Given the description of an element on the screen output the (x, y) to click on. 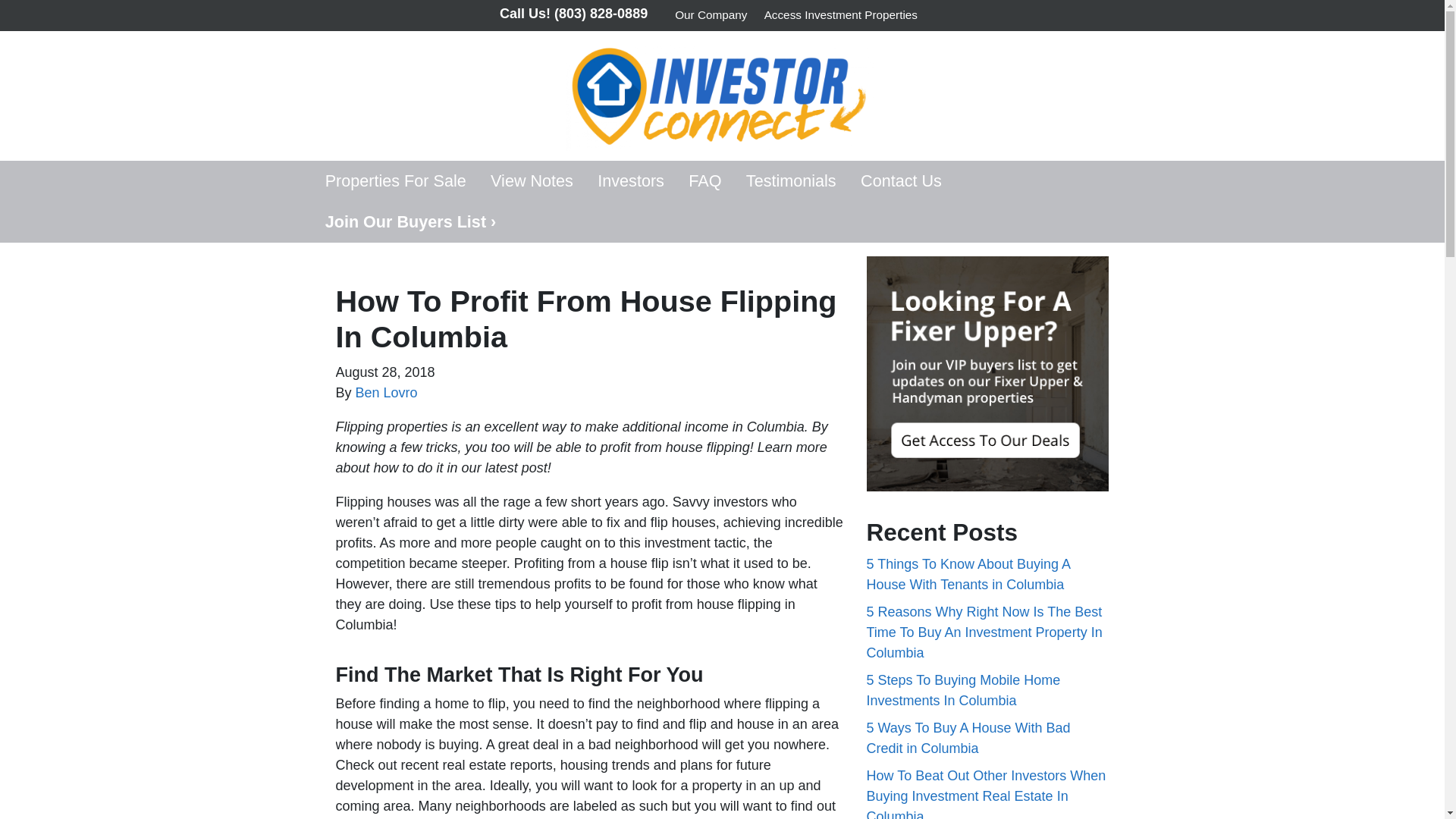
Investors (631, 180)
View Notes (532, 180)
Properties For Sale (395, 180)
Investors (631, 180)
FAQ (705, 180)
Contact Us (900, 180)
Ben Lovro (386, 392)
Properties For Sale (395, 180)
